Given the description of an element on the screen output the (x, y) to click on. 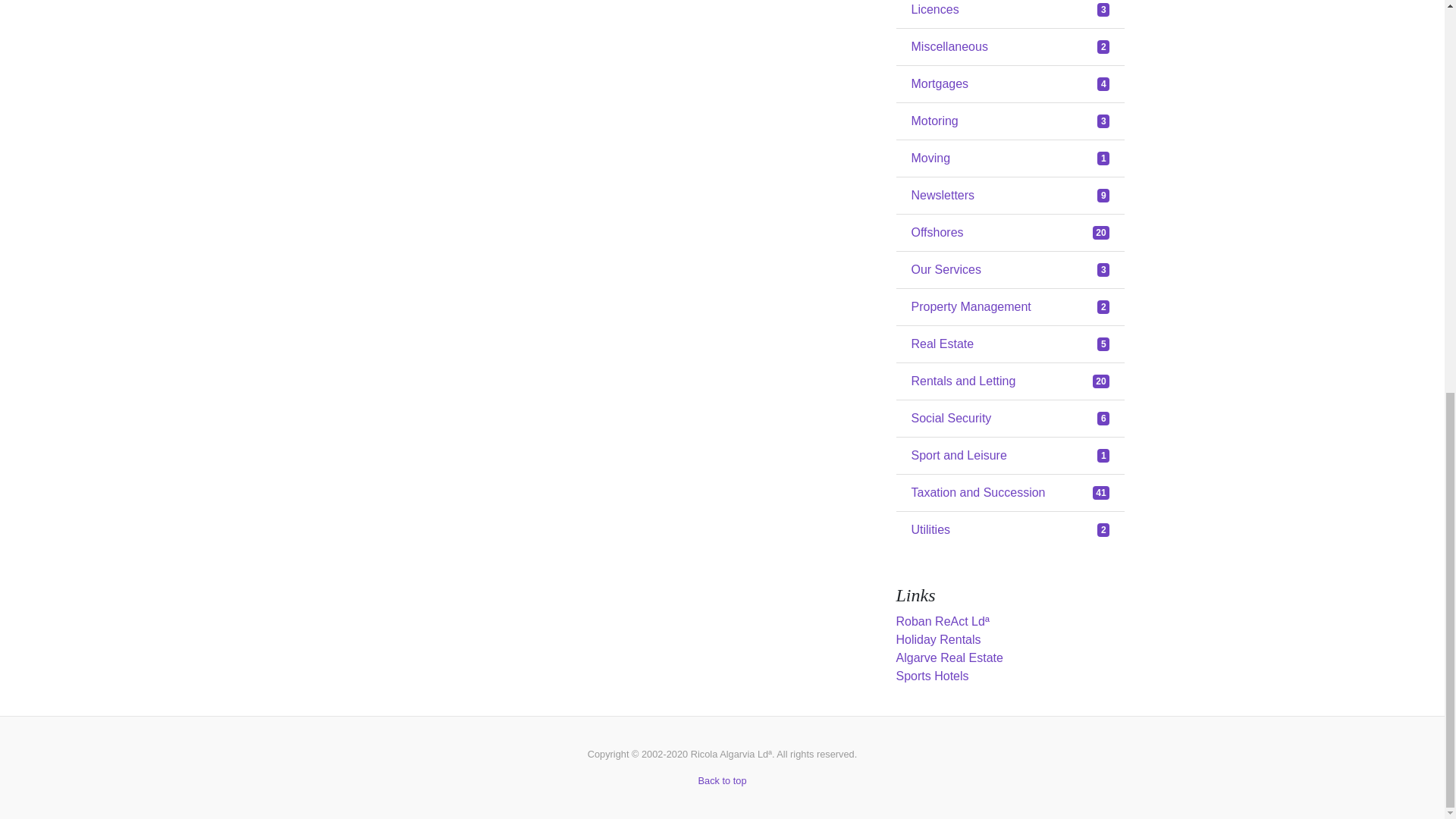
Holiday Rentals (1010, 121)
Sports Hotels (1010, 47)
Back to top (938, 639)
